Given the description of an element on the screen output the (x, y) to click on. 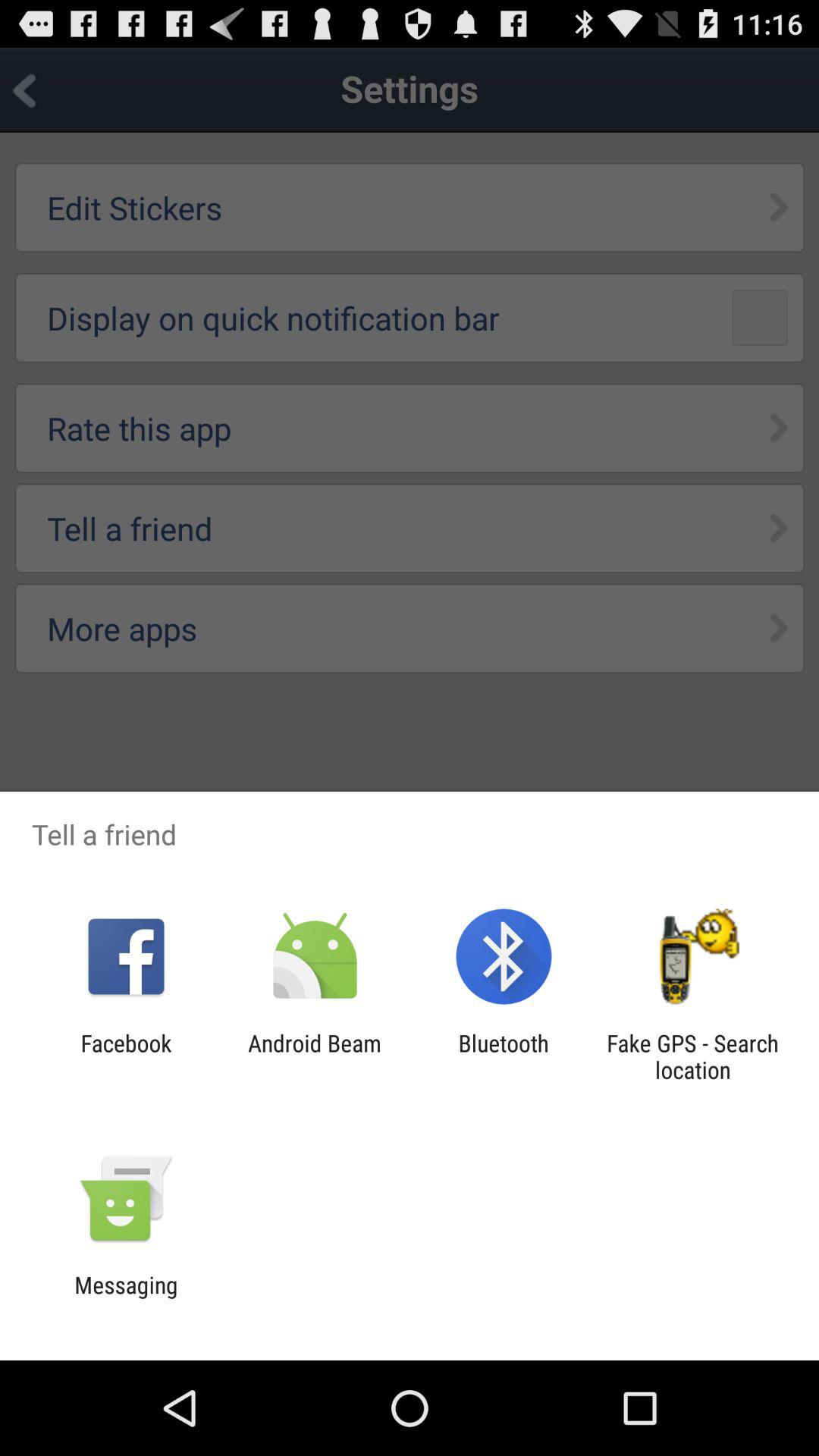
open the item next to the facebook (314, 1056)
